Given the description of an element on the screen output the (x, y) to click on. 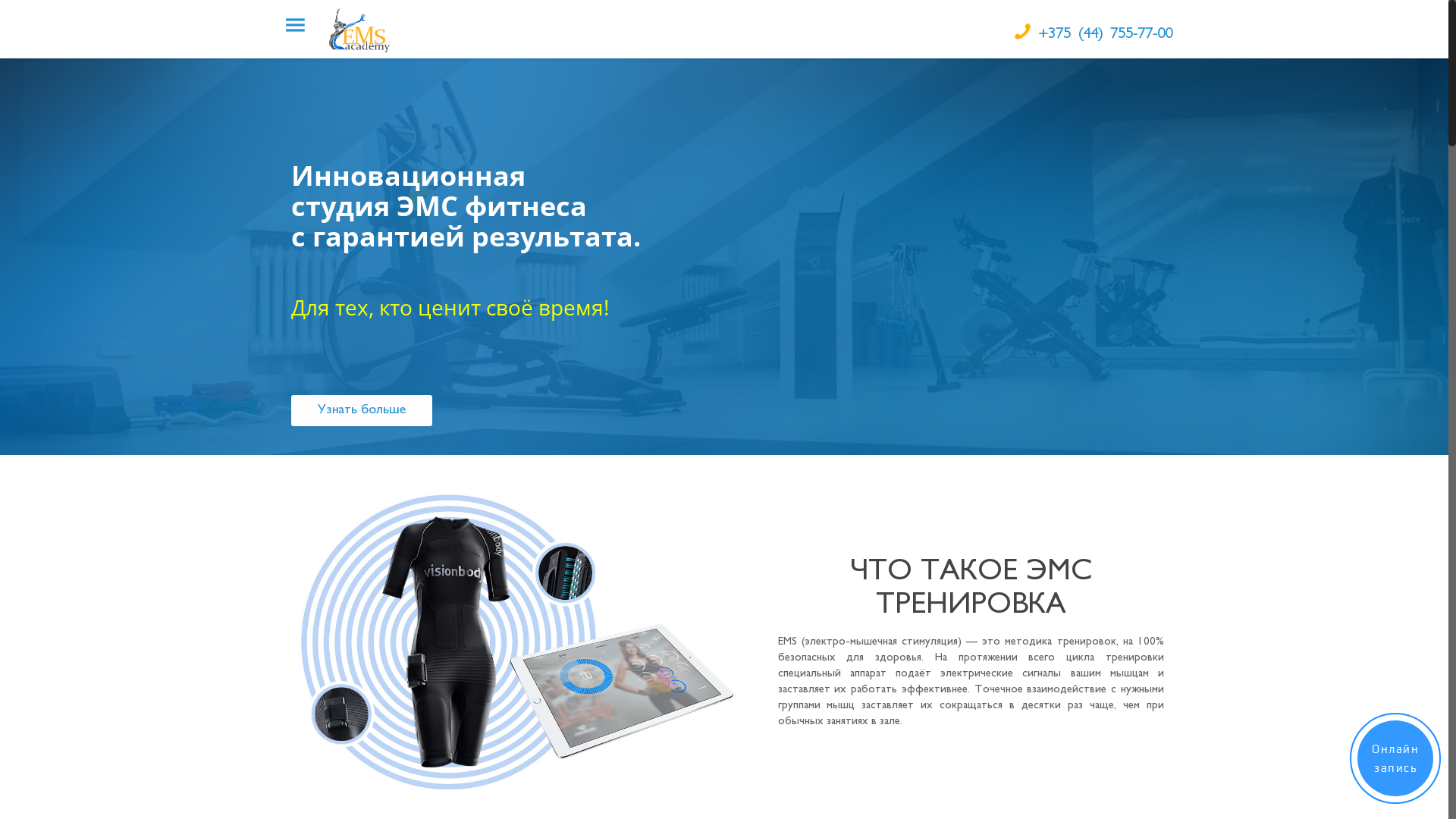
+375 (44) 755-77-00 Element type: text (1105, 34)
EMSAcademy Element type: hover (361, 28)
